Given the description of an element on the screen output the (x, y) to click on. 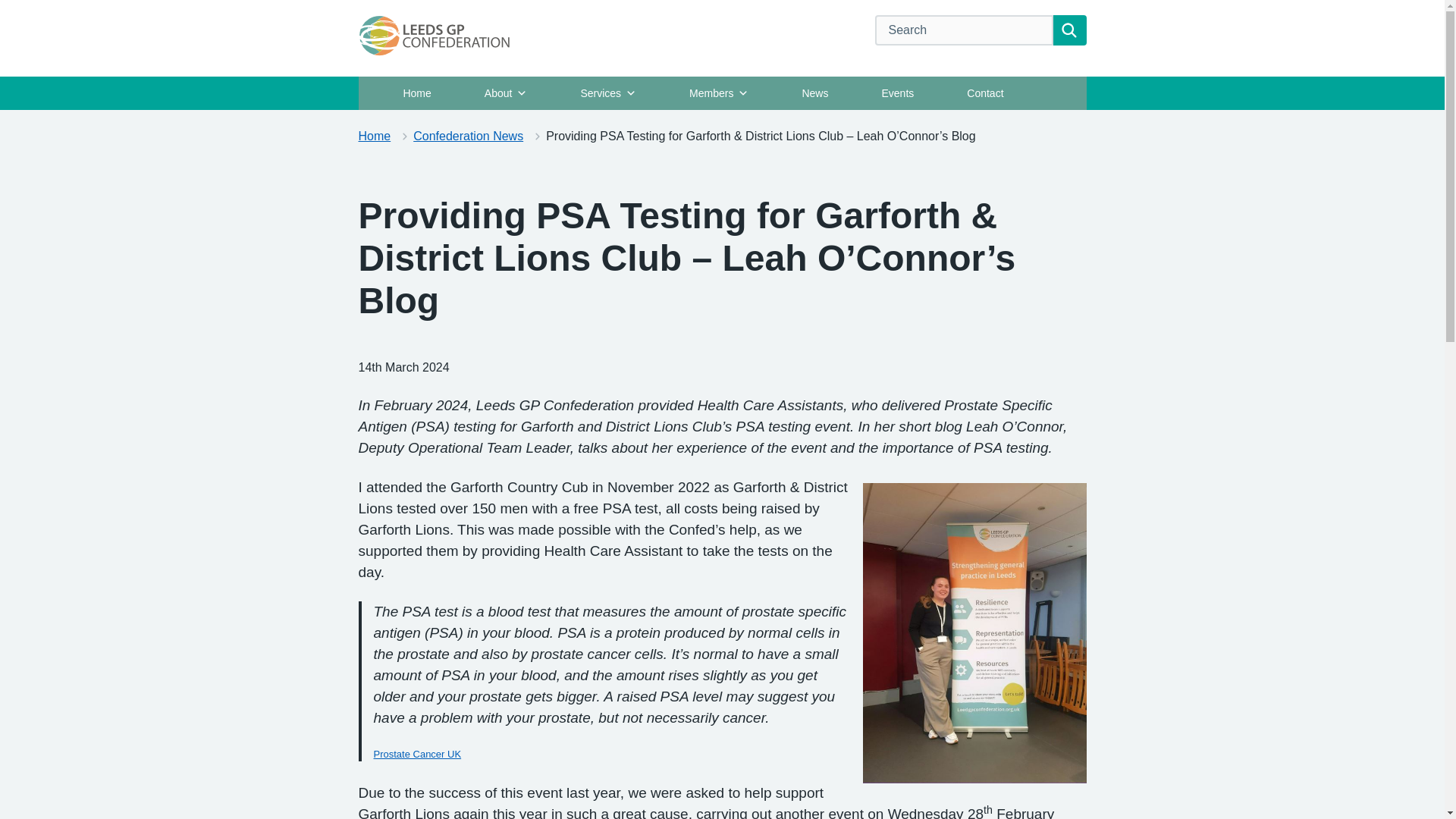
Contact (984, 92)
Search (1069, 30)
News (814, 92)
Home (416, 92)
Services (607, 92)
Home (374, 135)
Members (718, 92)
Events (897, 92)
About (506, 92)
